Given the description of an element on the screen output the (x, y) to click on. 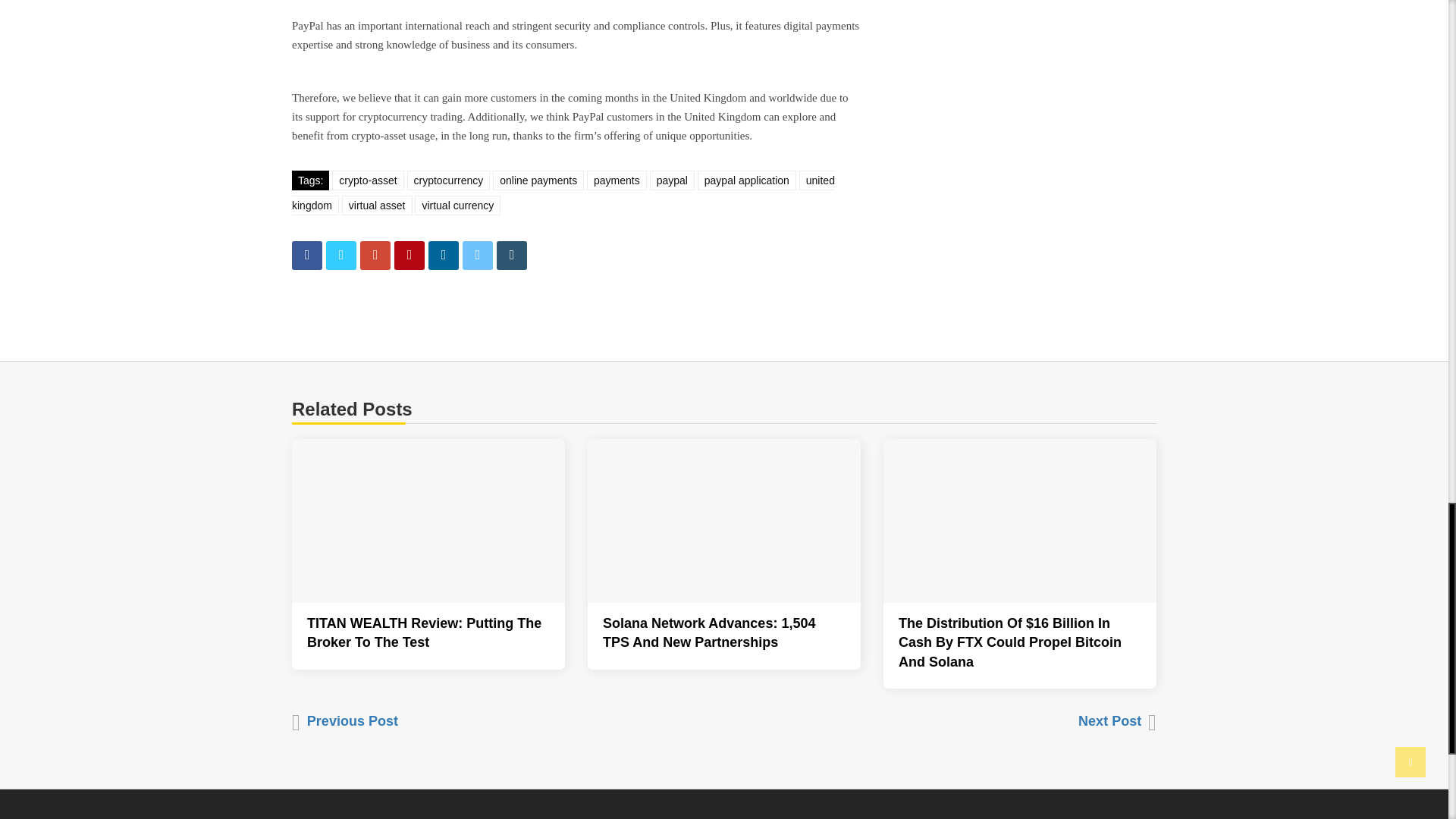
online payments (538, 180)
united kingdom (563, 192)
virtual currency (457, 205)
paypal application (746, 180)
payments (616, 180)
cryptocurrency (447, 180)
crypto-asset (367, 180)
virtual asset (377, 205)
paypal (671, 180)
